Given the description of an element on the screen output the (x, y) to click on. 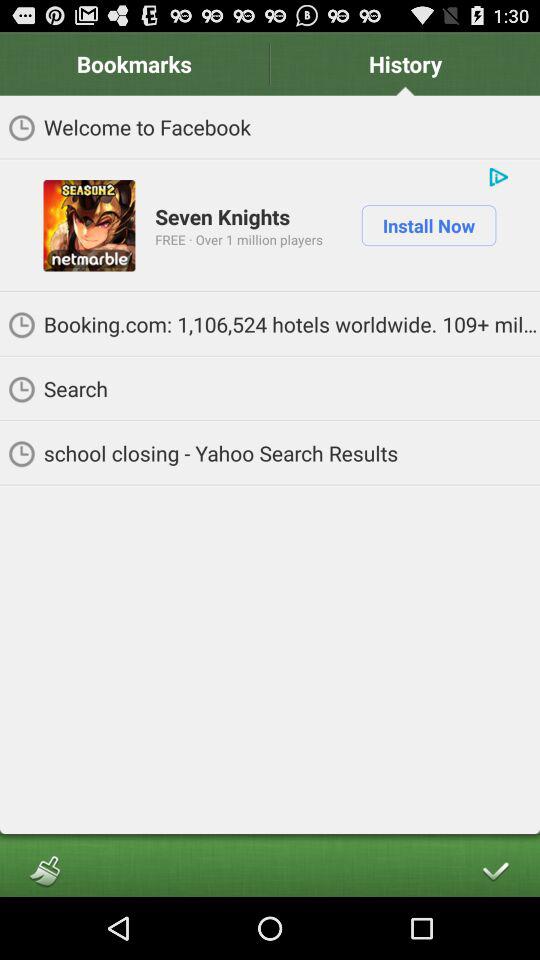
click item to the left of seven knights item (89, 225)
